Given the description of an element on the screen output the (x, y) to click on. 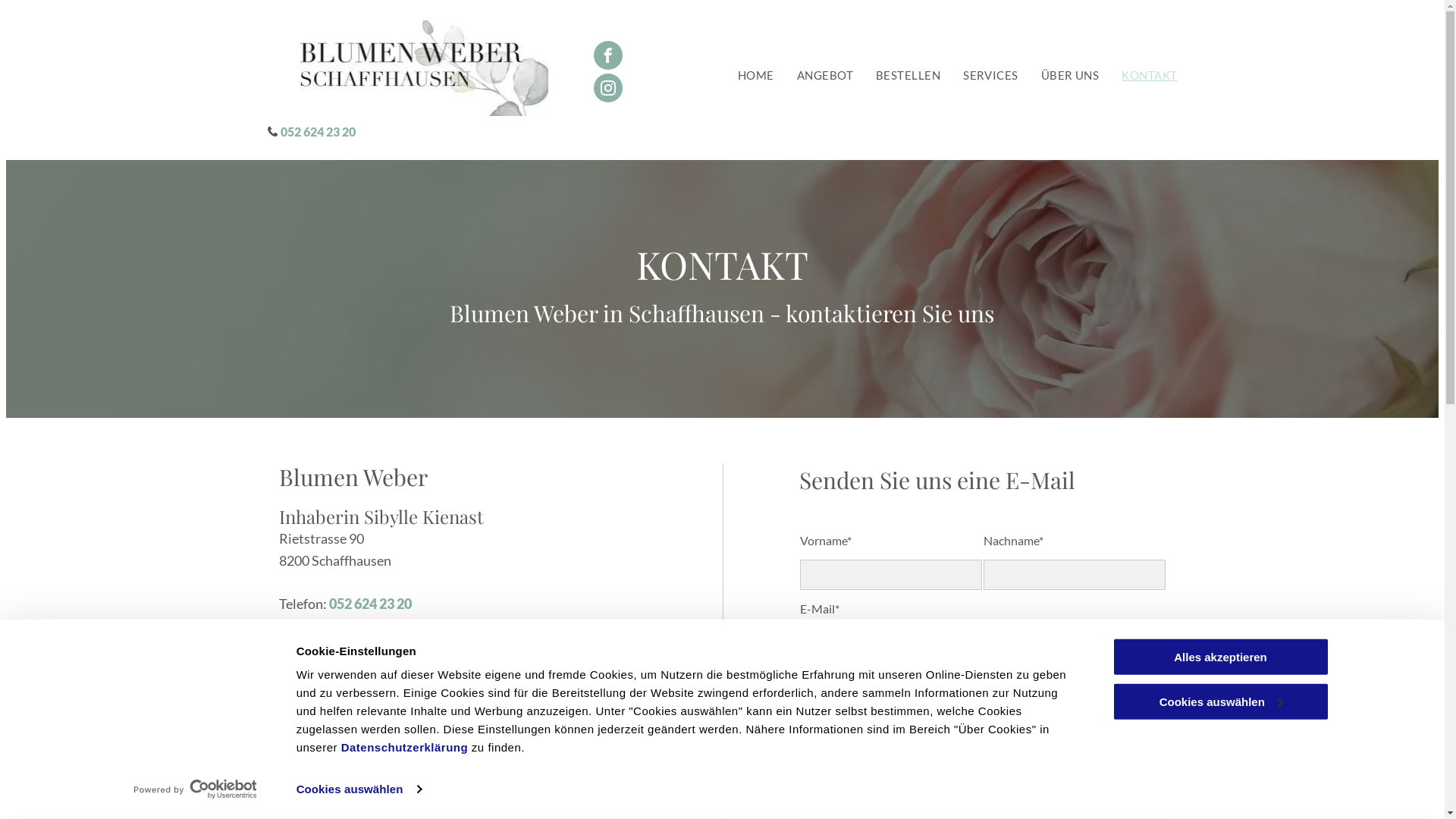
052 624 23 20 Element type: text (317, 131)
KONTAKT Element type: text (1148, 75)
Alles akzeptieren Element type: text (1219, 656)
ANGEBOT Element type: text (825, 75)
BESTELLEN Element type: text (907, 75)
HOME Element type: text (755, 75)
info@blumenweber.ch Element type: text (393, 625)
052 624 23 20 Element type: text (370, 603)
SERVICES Element type: text (990, 75)
